Given the description of an element on the screen output the (x, y) to click on. 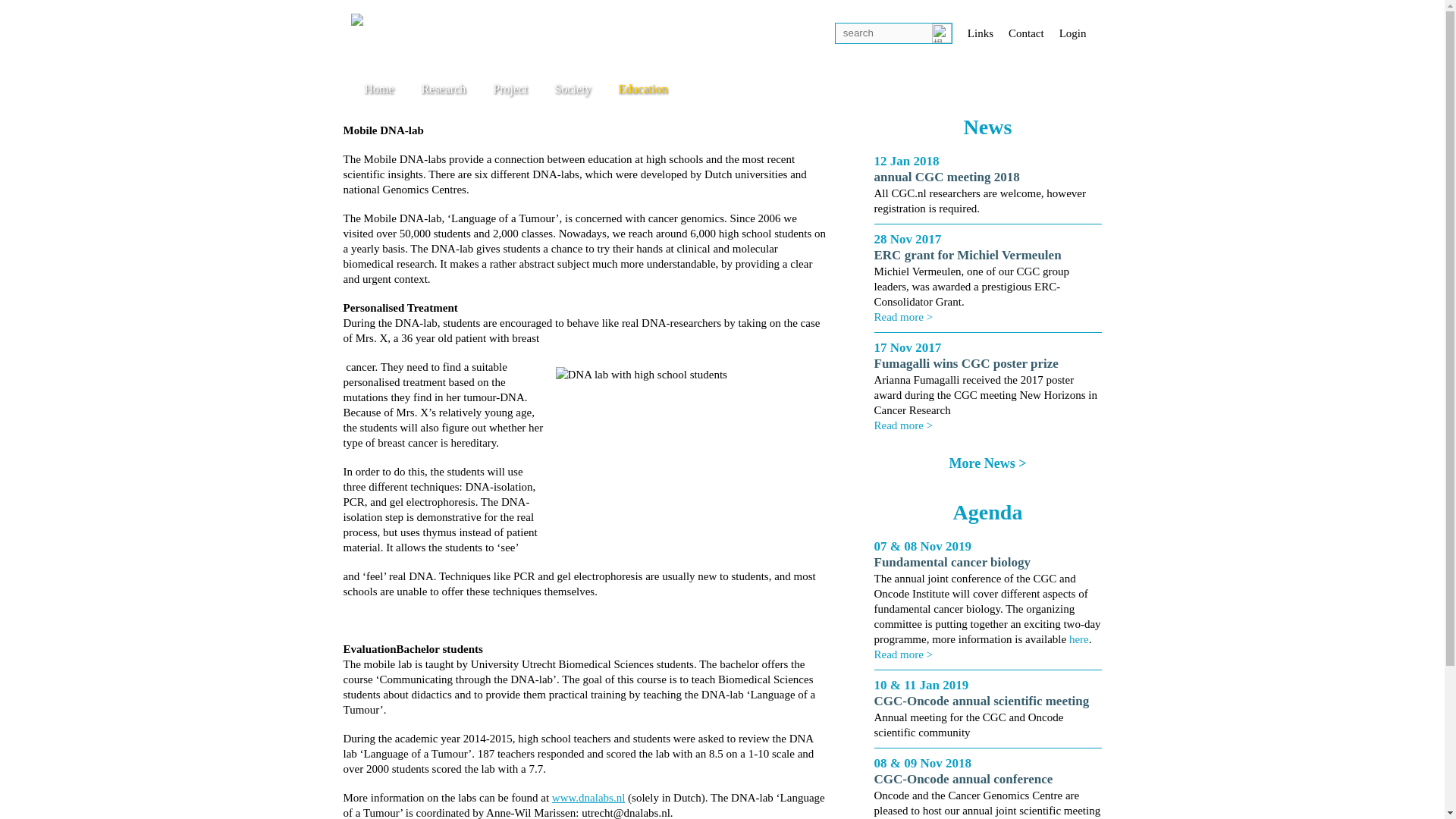
Society (573, 89)
Home (378, 89)
Links (980, 33)
DNA lab 'Language of a Tumour' on the road (687, 454)
Contact (1026, 33)
here (1078, 639)
Login (1072, 33)
Agenda (988, 512)
DNA lab website (588, 797)
Education (643, 89)
